Given the description of an element on the screen output the (x, y) to click on. 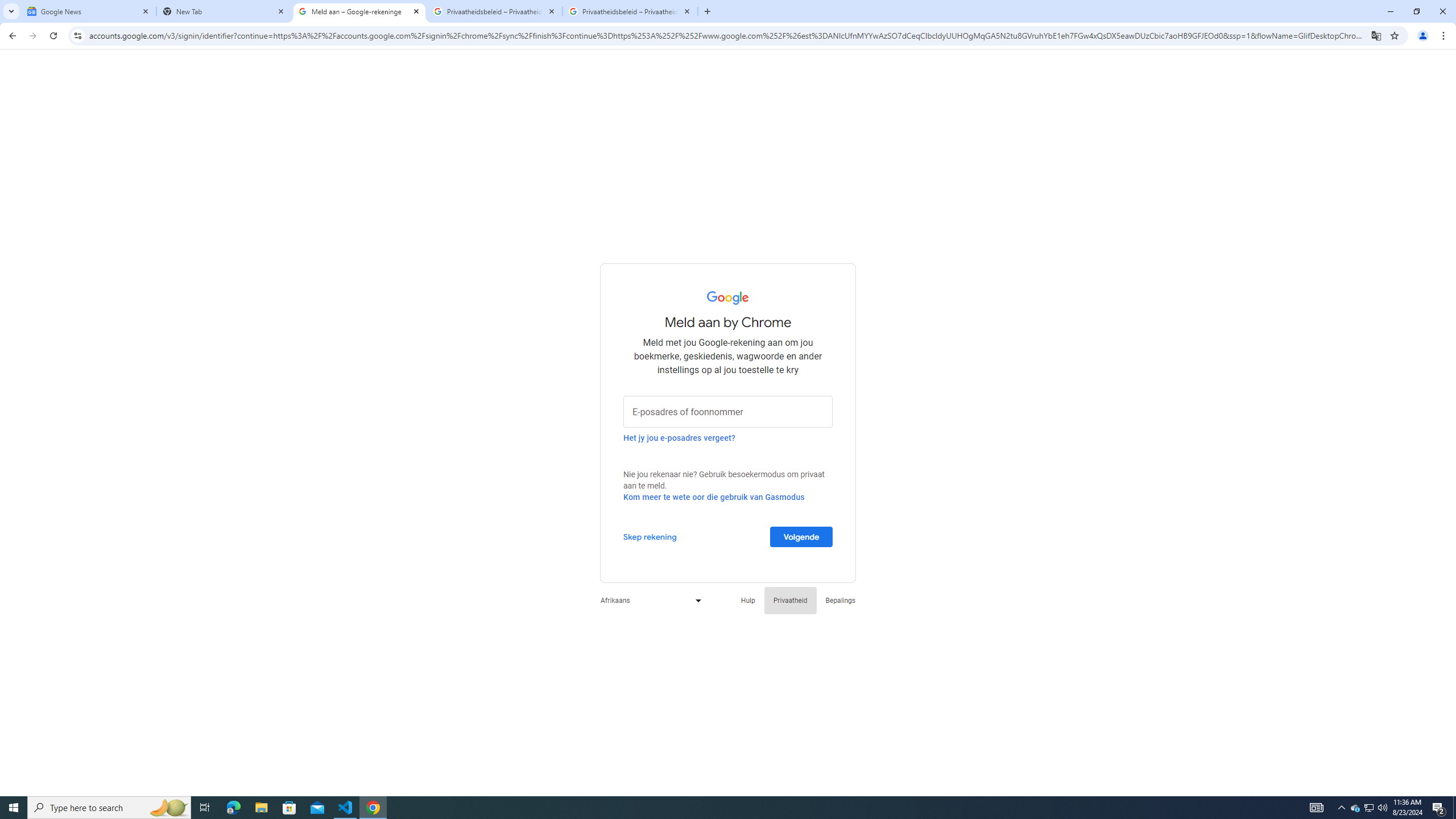
New Tab (224, 11)
Google News (88, 11)
Het jy jou e-posadres vergeet? (678, 437)
Translate this page (1376, 35)
